Given the description of an element on the screen output the (x, y) to click on. 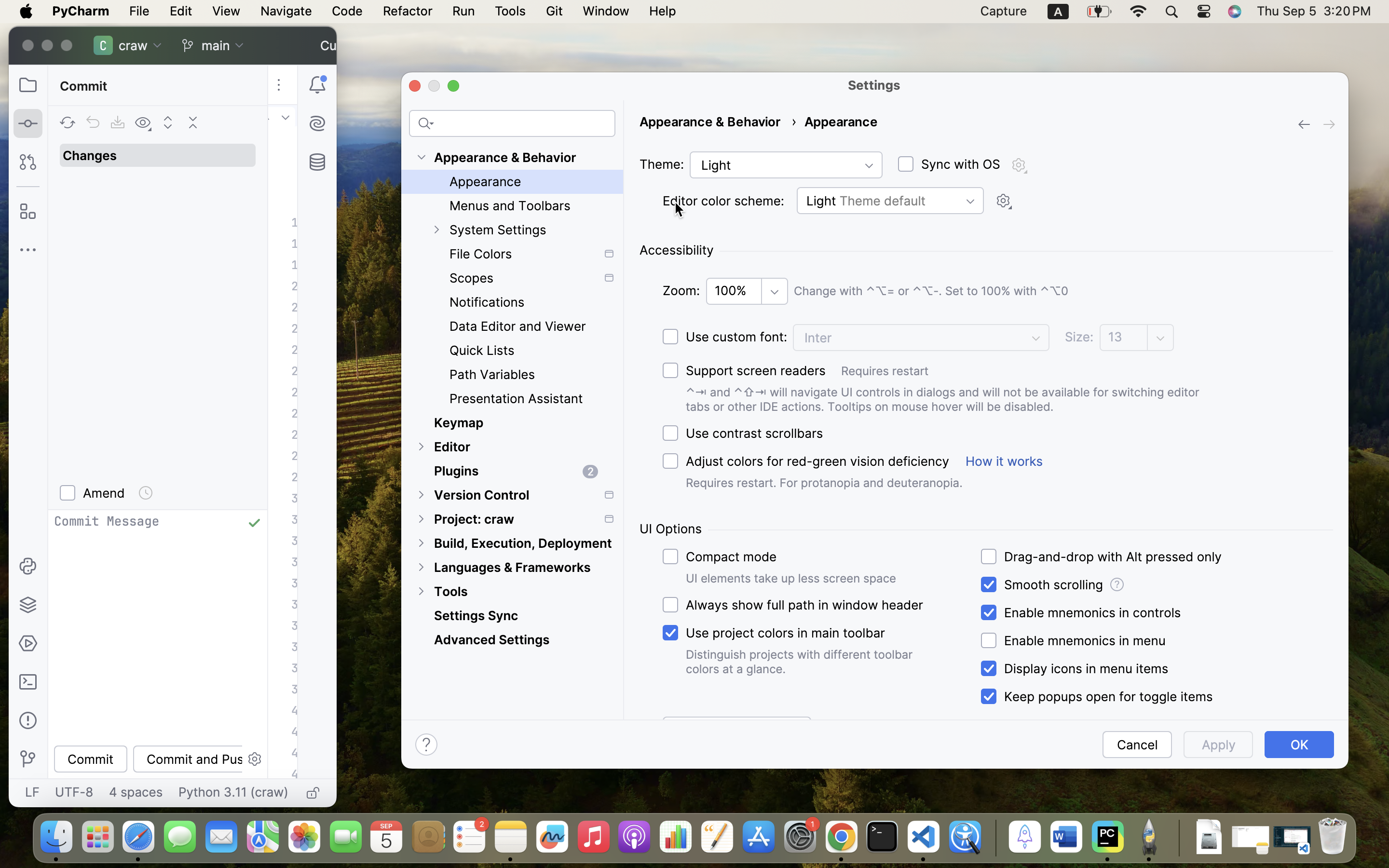
Light Theme default Element type: AXPopUpButton (889, 200)
